Given the description of an element on the screen output the (x, y) to click on. 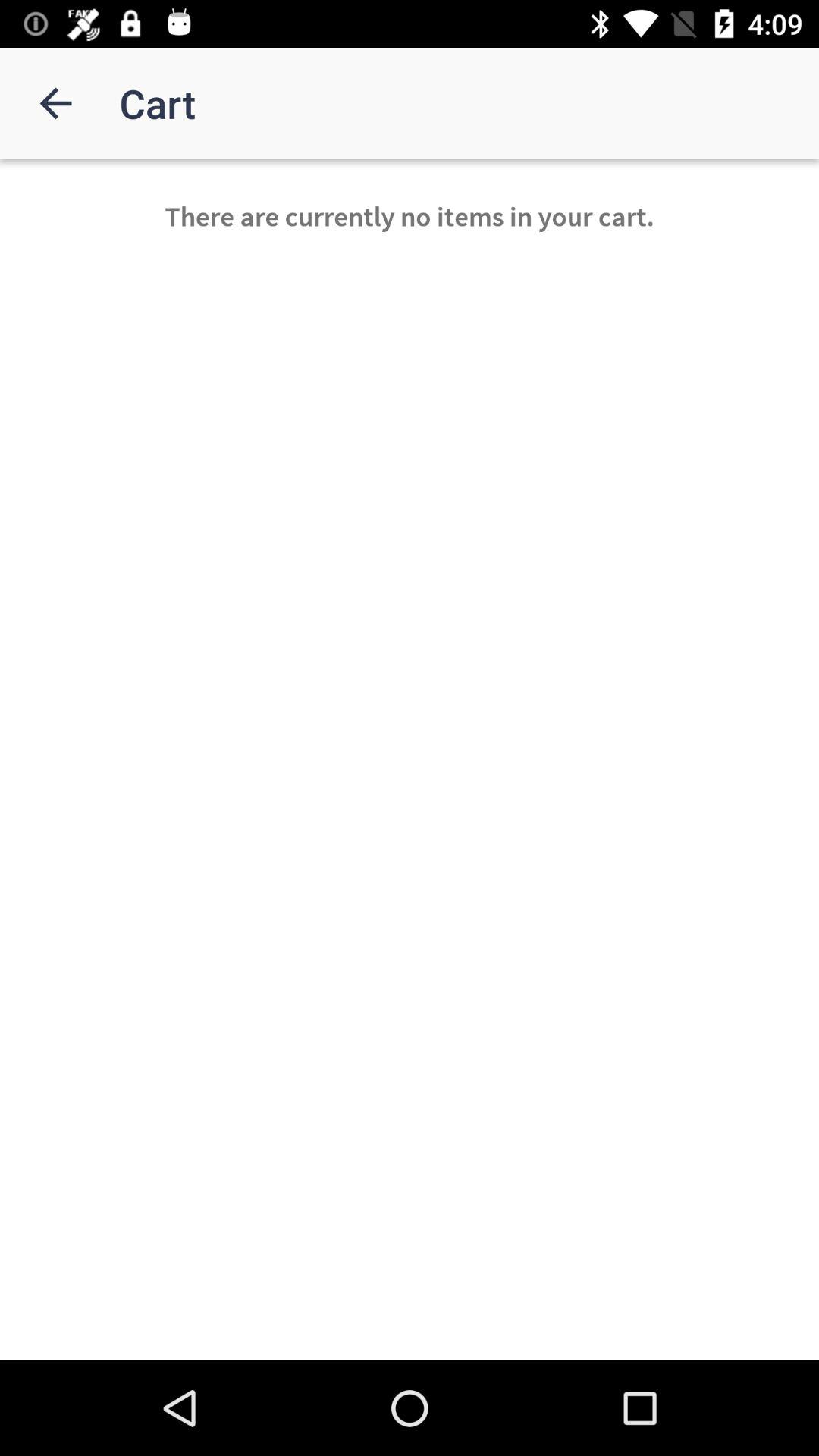
open the icon above there are currently (55, 103)
